Given the description of an element on the screen output the (x, y) to click on. 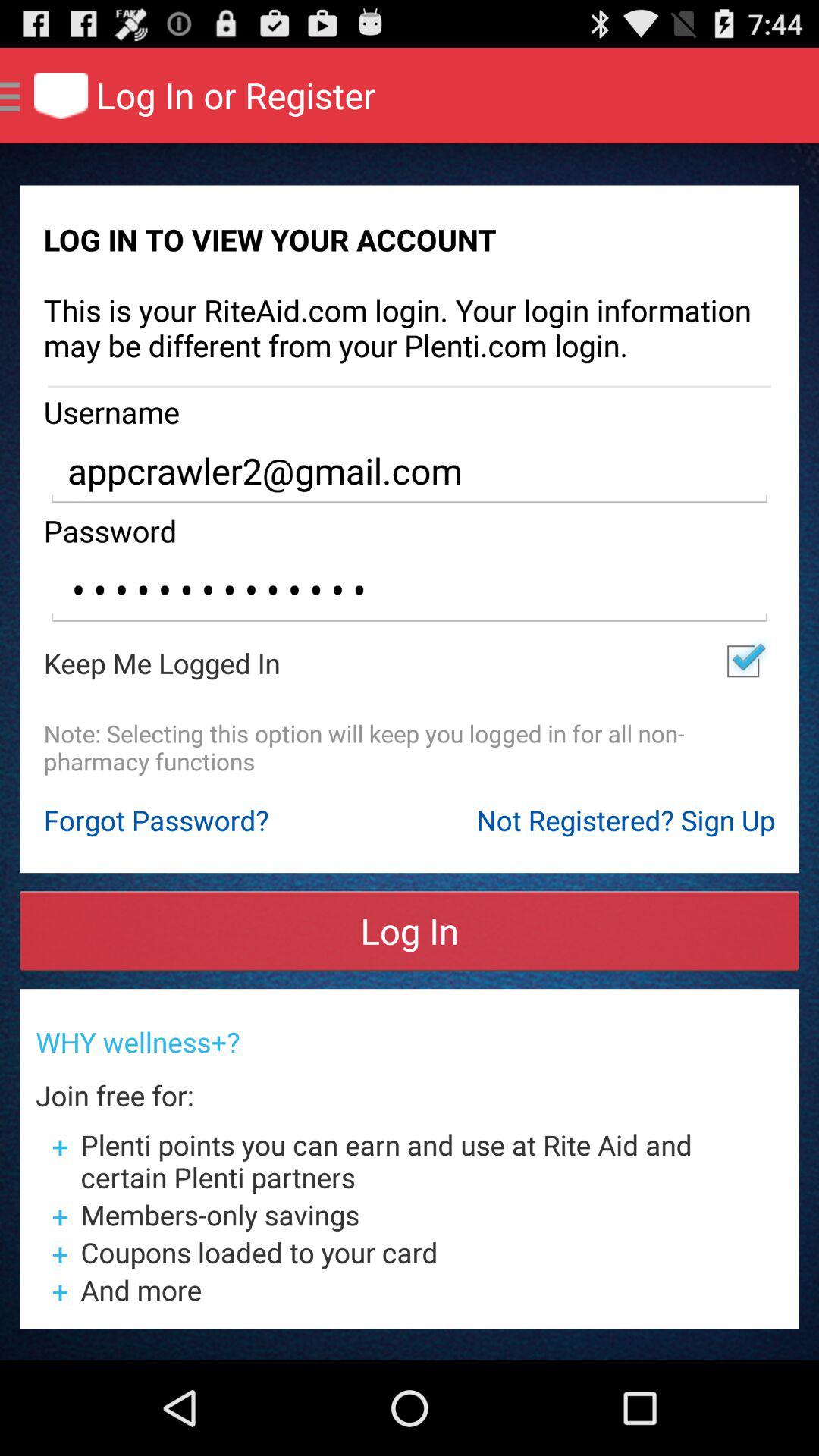
tap the icon next to forgot password? (625, 819)
